Given the description of an element on the screen output the (x, y) to click on. 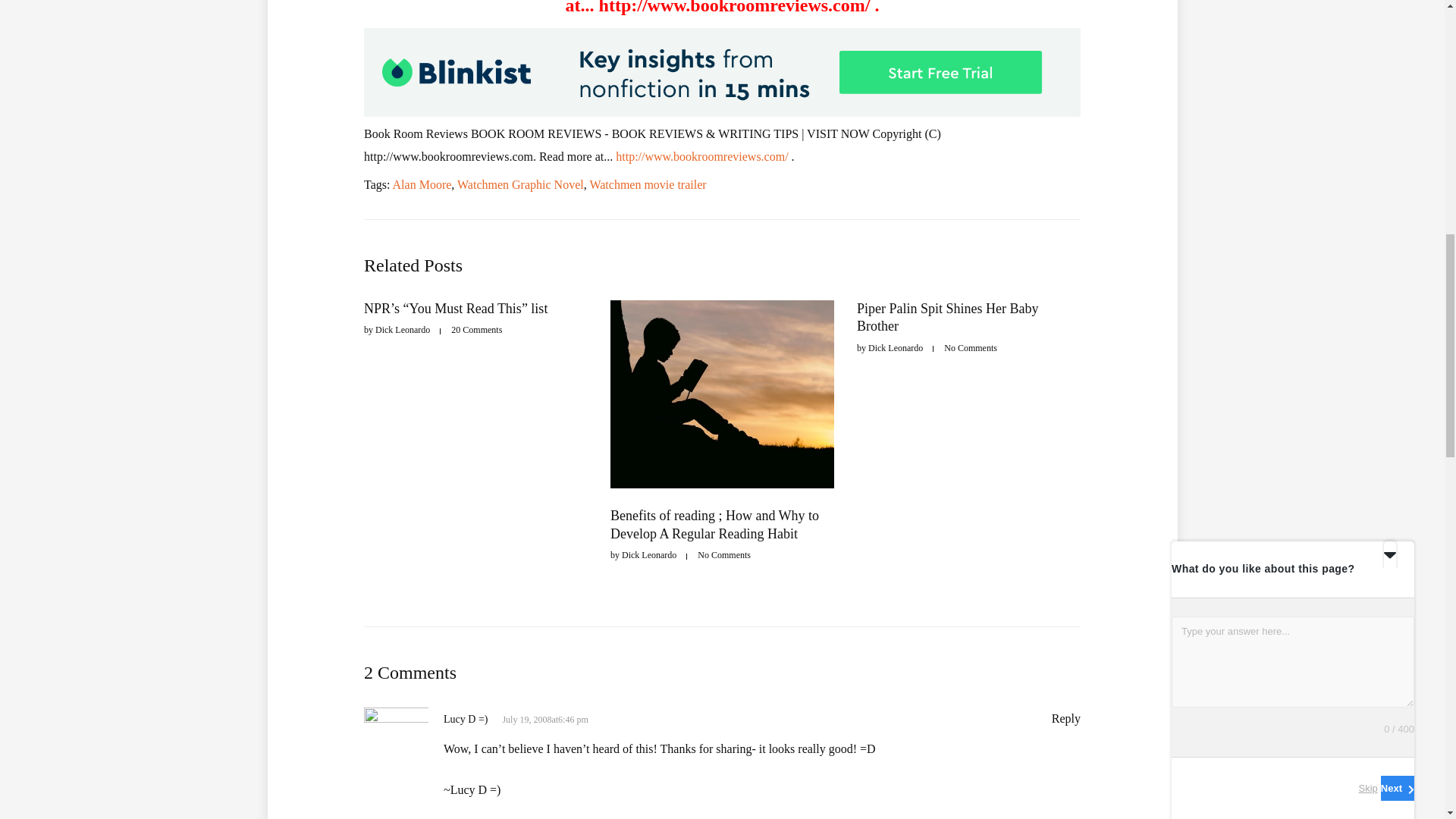
Piper Palin Spit Shines Her Baby Brother (948, 317)
Alan Moore (422, 184)
Watchmen movie trailer (647, 184)
Watchmen Graphic Novel (520, 184)
Reply (1065, 717)
July 19, 2008at6:46 pm (545, 719)
